Given the description of an element on the screen output the (x, y) to click on. 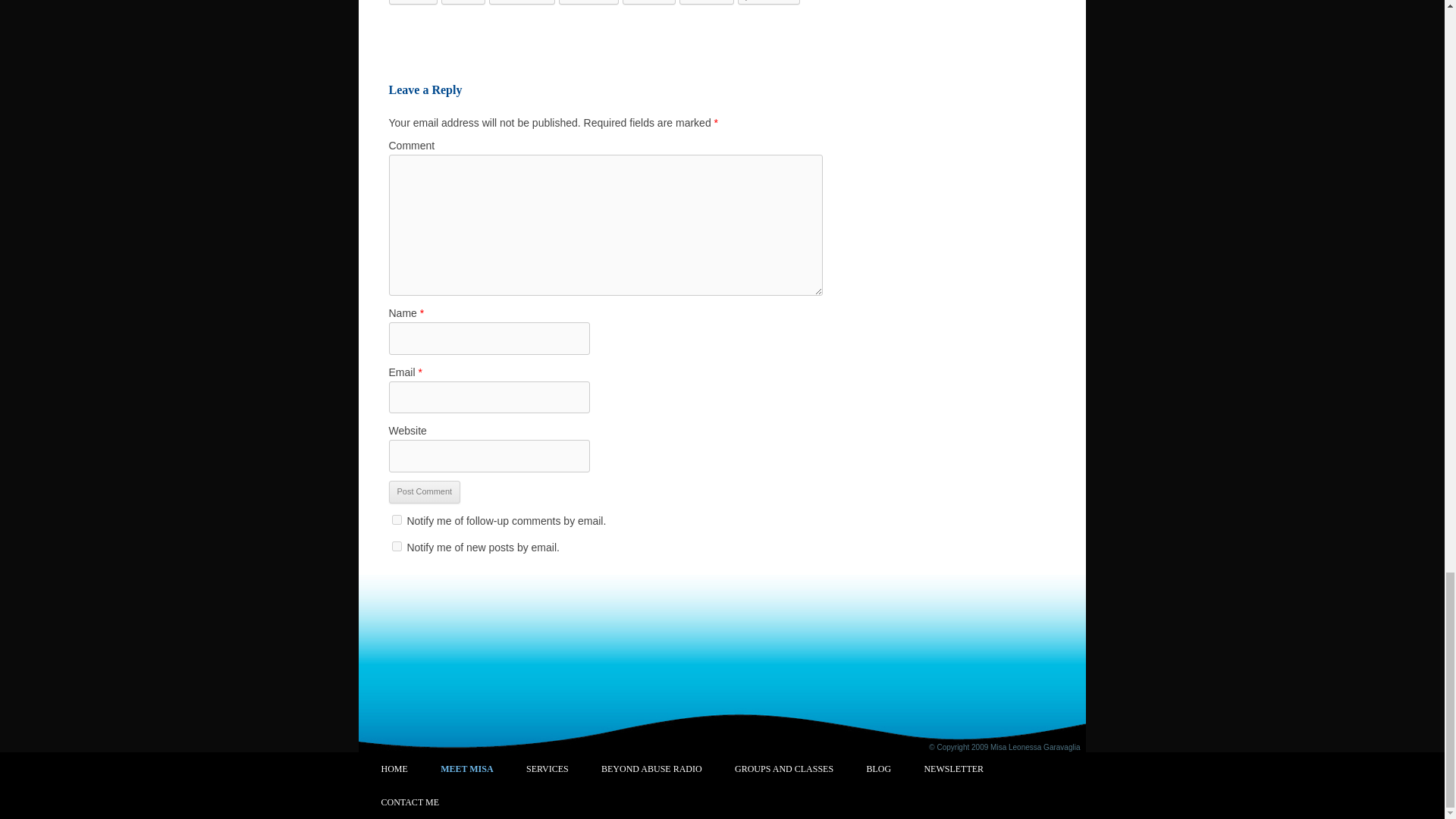
Skip to content (763, 760)
Print (463, 2)
Click to email this to a friend (412, 2)
Skip to content (763, 760)
Click to share on LinkedIn (588, 2)
Email (412, 2)
subscribe (396, 519)
Pinterest (768, 2)
LinkedIn (588, 2)
Facebook (521, 2)
subscribe (396, 545)
Google (707, 2)
SERVICES (547, 767)
Click to share on Twitter (649, 2)
Post Comment (424, 491)
